Given the description of an element on the screen output the (x, y) to click on. 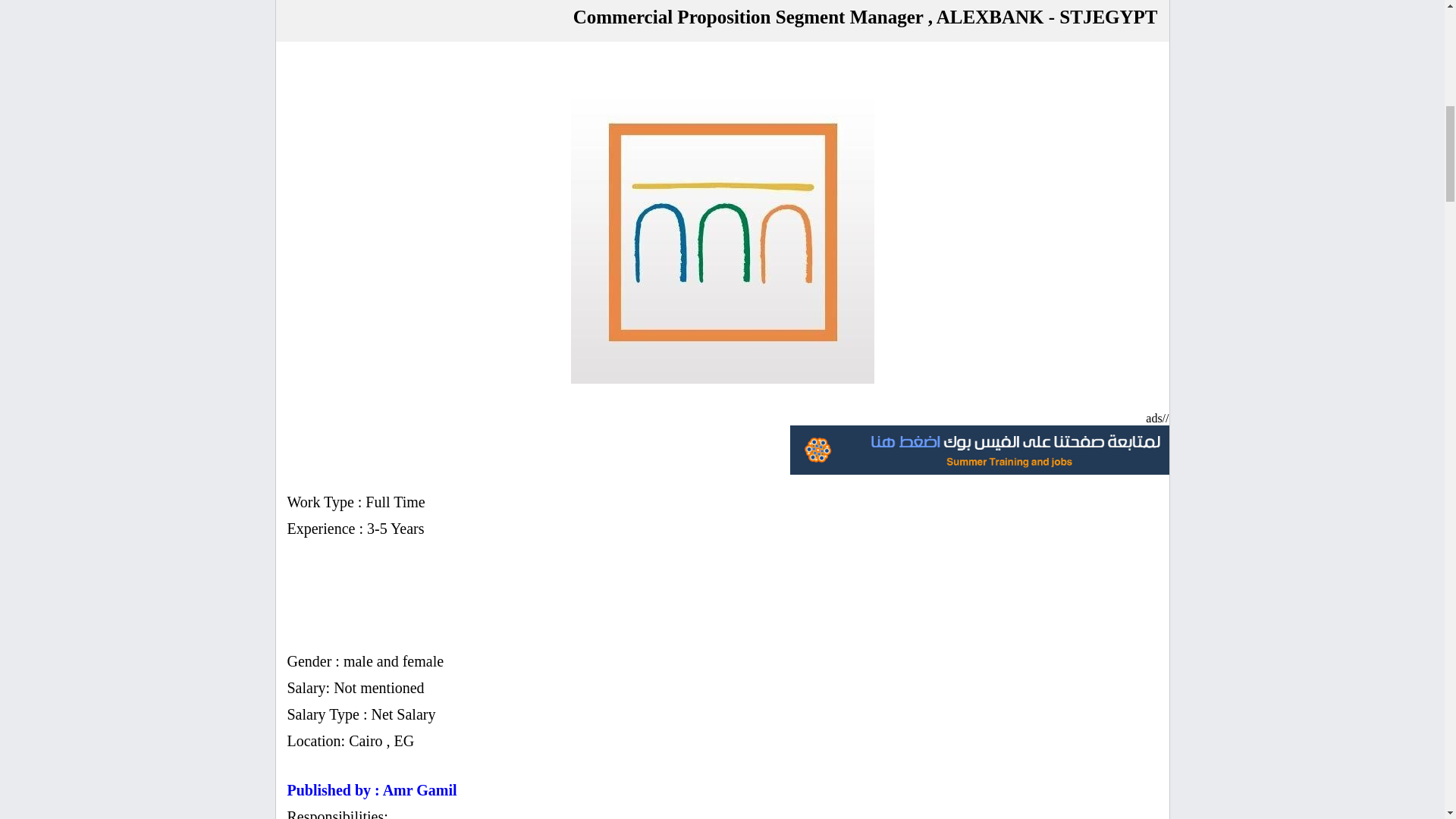
Published by : Amr Gamil (371, 790)
Commercial Proposition Segment Manager , ALEXBANK - STJEGYPT (721, 232)
